Given the description of an element on the screen output the (x, y) to click on. 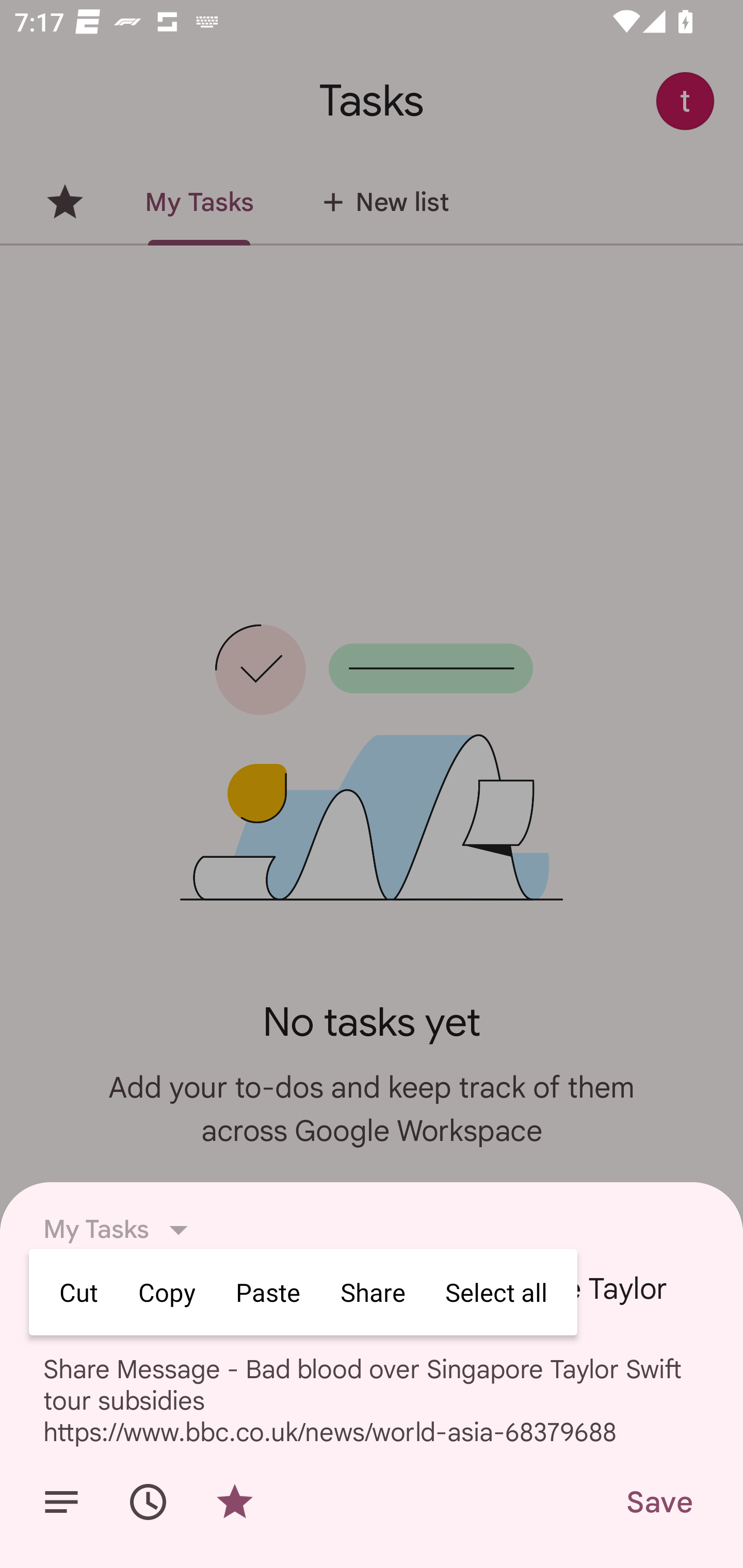
My Tasks List, My Tasks selected, 1 of 1 (121, 1229)
Save (659, 1501)
Add details (60, 1501)
Set date/time (147, 1501)
Remove star (234, 1501)
